Given the description of an element on the screen output the (x, y) to click on. 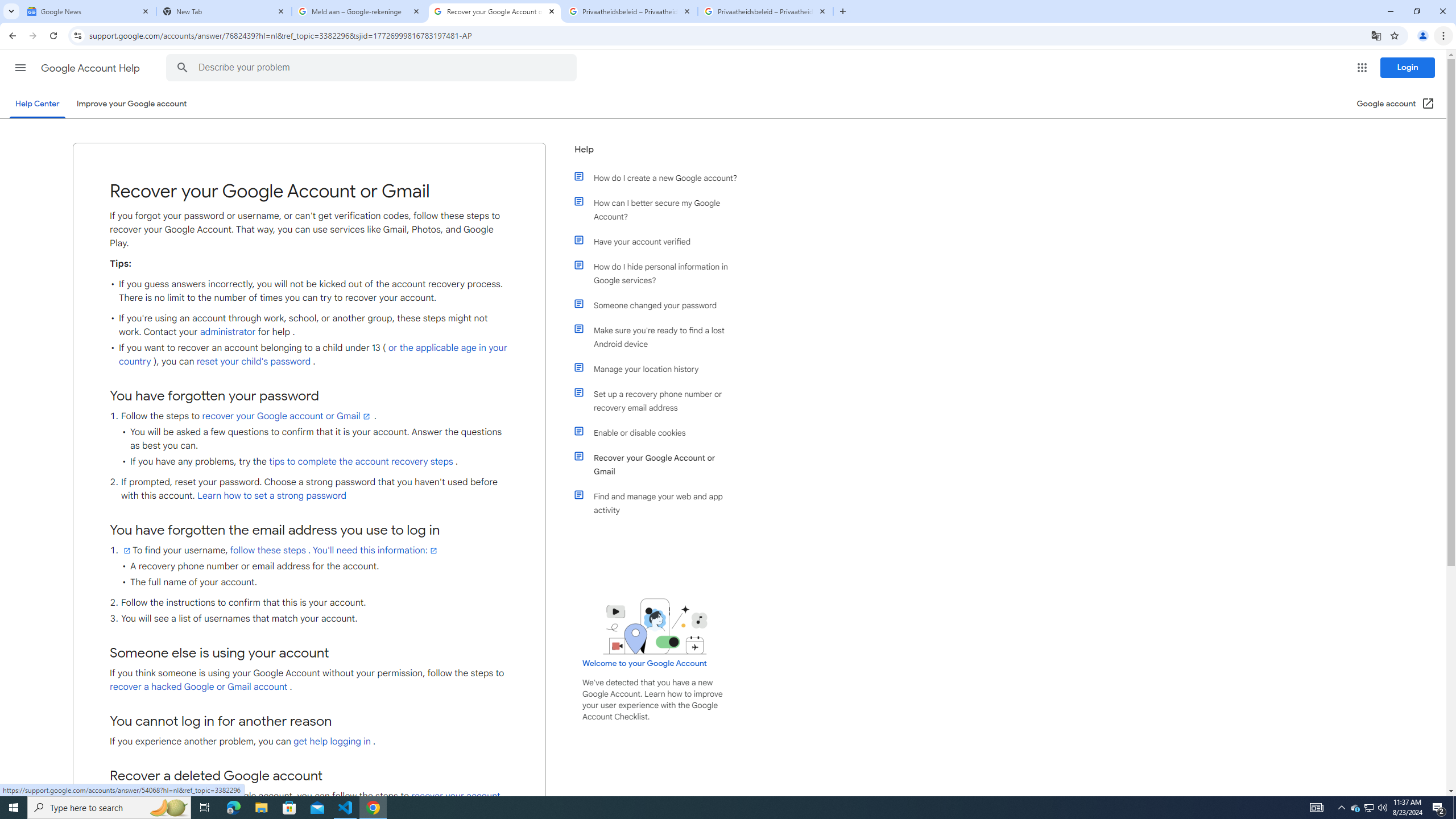
How can I better secure my Google Account? (661, 209)
get help logging in (332, 741)
Set up a recovery phone number or recovery email address (661, 400)
How do I hide personal information in Google services? (661, 273)
follow these steps . You'll need this information: (334, 550)
Make sure you're ready to find a lost Android device (661, 336)
Manage your location history (661, 368)
Login (1407, 67)
